Given the description of an element on the screen output the (x, y) to click on. 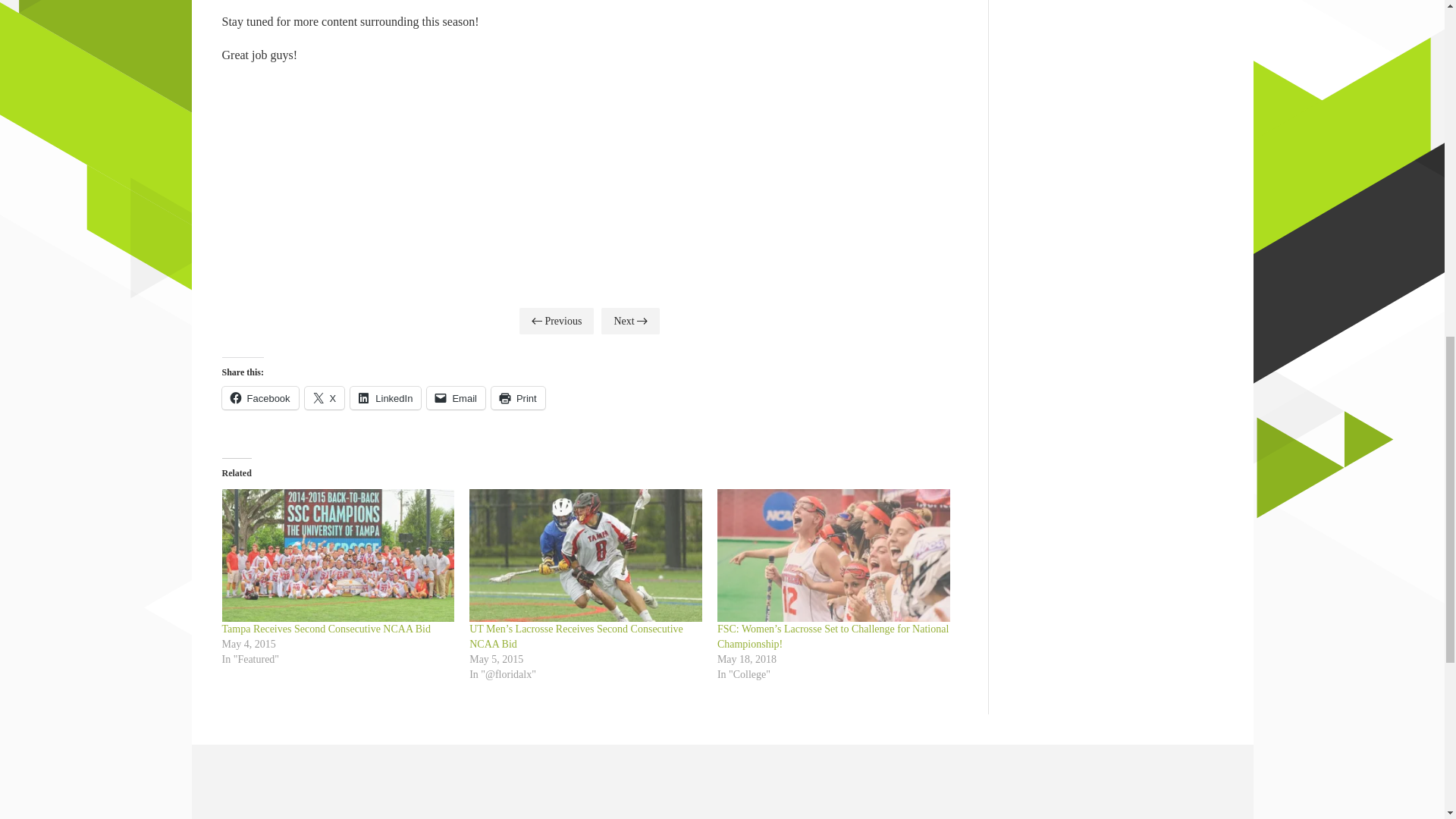
Click to print (518, 397)
Tampa Receives Second Consecutive NCAA Bid (325, 628)
Click to share on LinkedIn (385, 397)
Click to share on Facebook (259, 397)
Click to email a link to a friend (455, 397)
Tampa Receives Second Consecutive NCAA Bid (337, 554)
Click to share on X (324, 397)
